Given the description of an element on the screen output the (x, y) to click on. 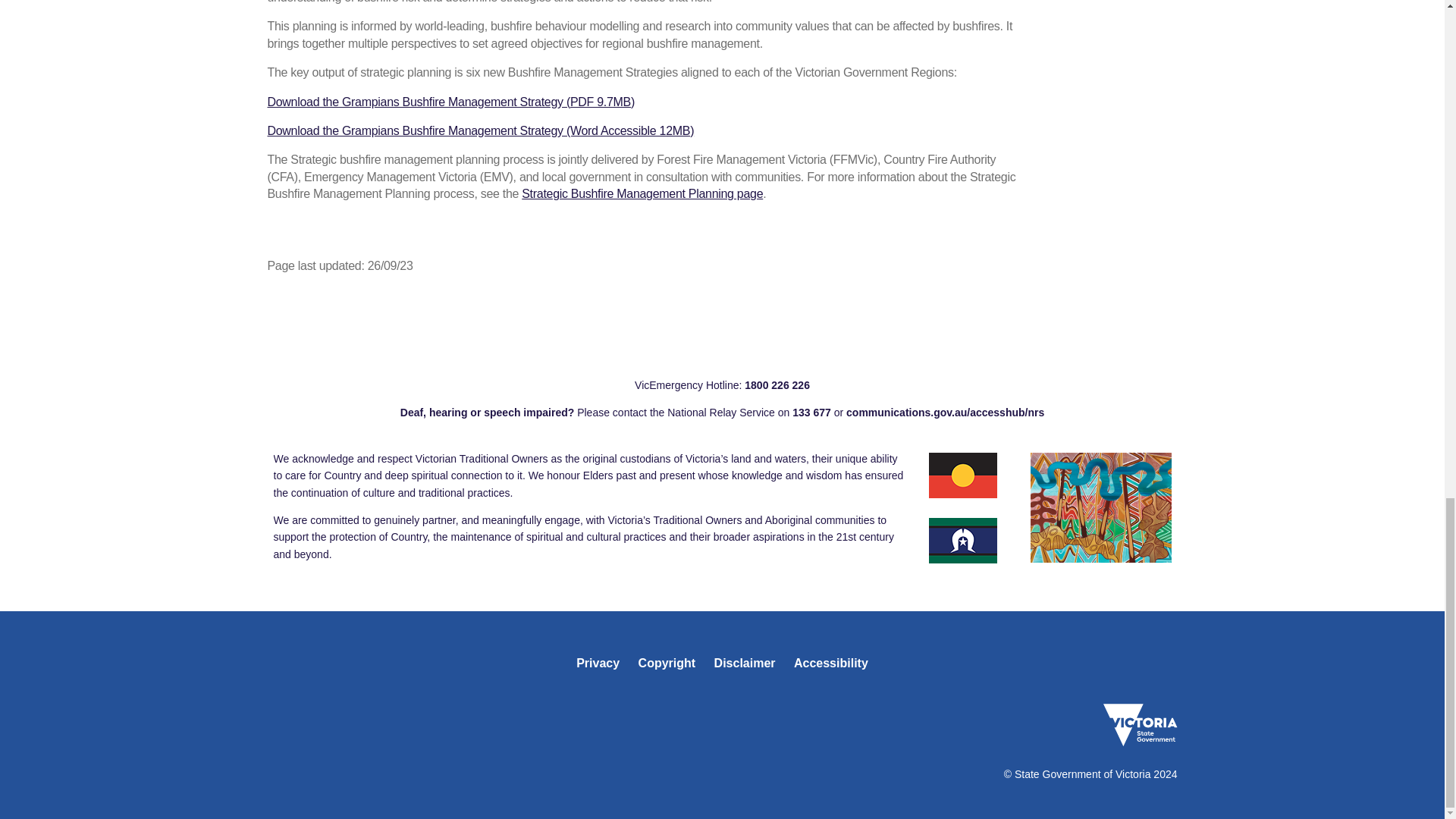
Copyright (667, 662)
Privacy (598, 662)
Disclaimer (745, 662)
vic.gov.au (1139, 724)
133 677 (811, 412)
Strategic Bushfire Management Planning page (641, 193)
1800 226 226 (776, 385)
